Given the description of an element on the screen output the (x, y) to click on. 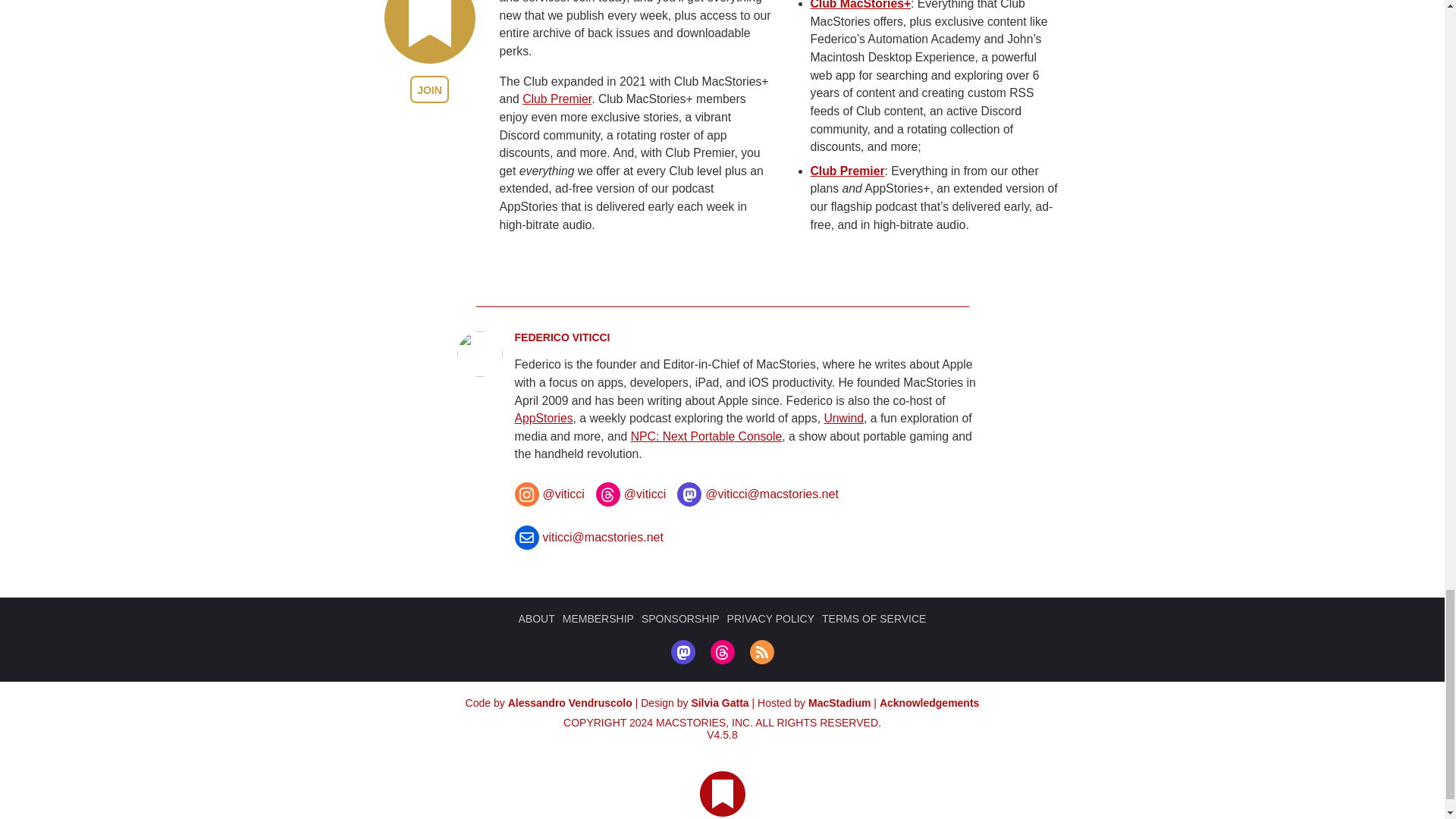
Club Premier (556, 133)
Posts by Federico Viticci (561, 372)
JOIN (429, 124)
